Given the description of an element on the screen output the (x, y) to click on. 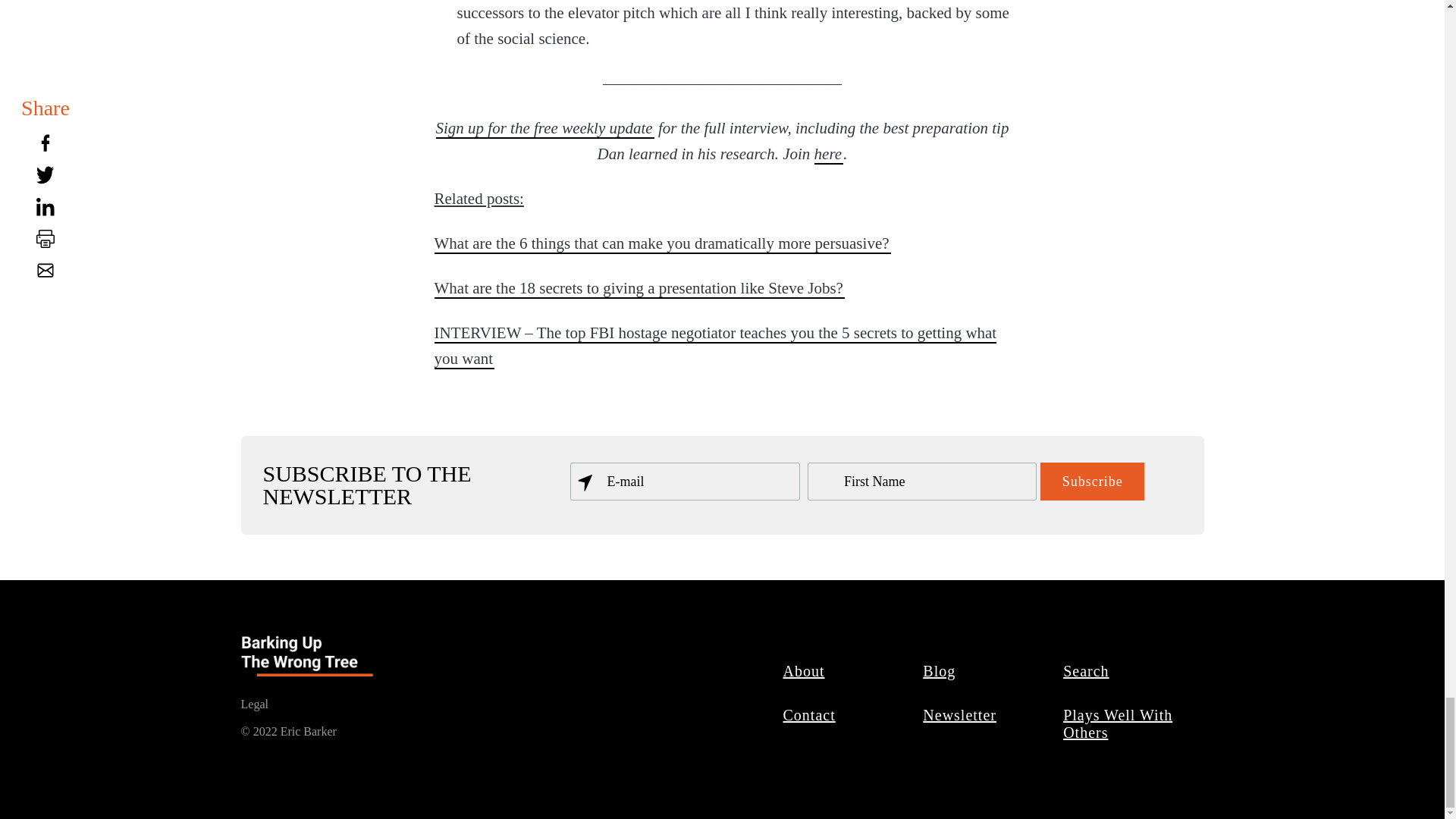
Subscribe (1092, 481)
Sign up for the free weekly update (544, 127)
Plays Well With Others (1117, 723)
About (804, 669)
Subscribe (1092, 481)
Search (1085, 669)
Contact (809, 714)
Blog (939, 669)
Legal (255, 703)
here (828, 153)
Newsletter (960, 714)
